Given the description of an element on the screen output the (x, y) to click on. 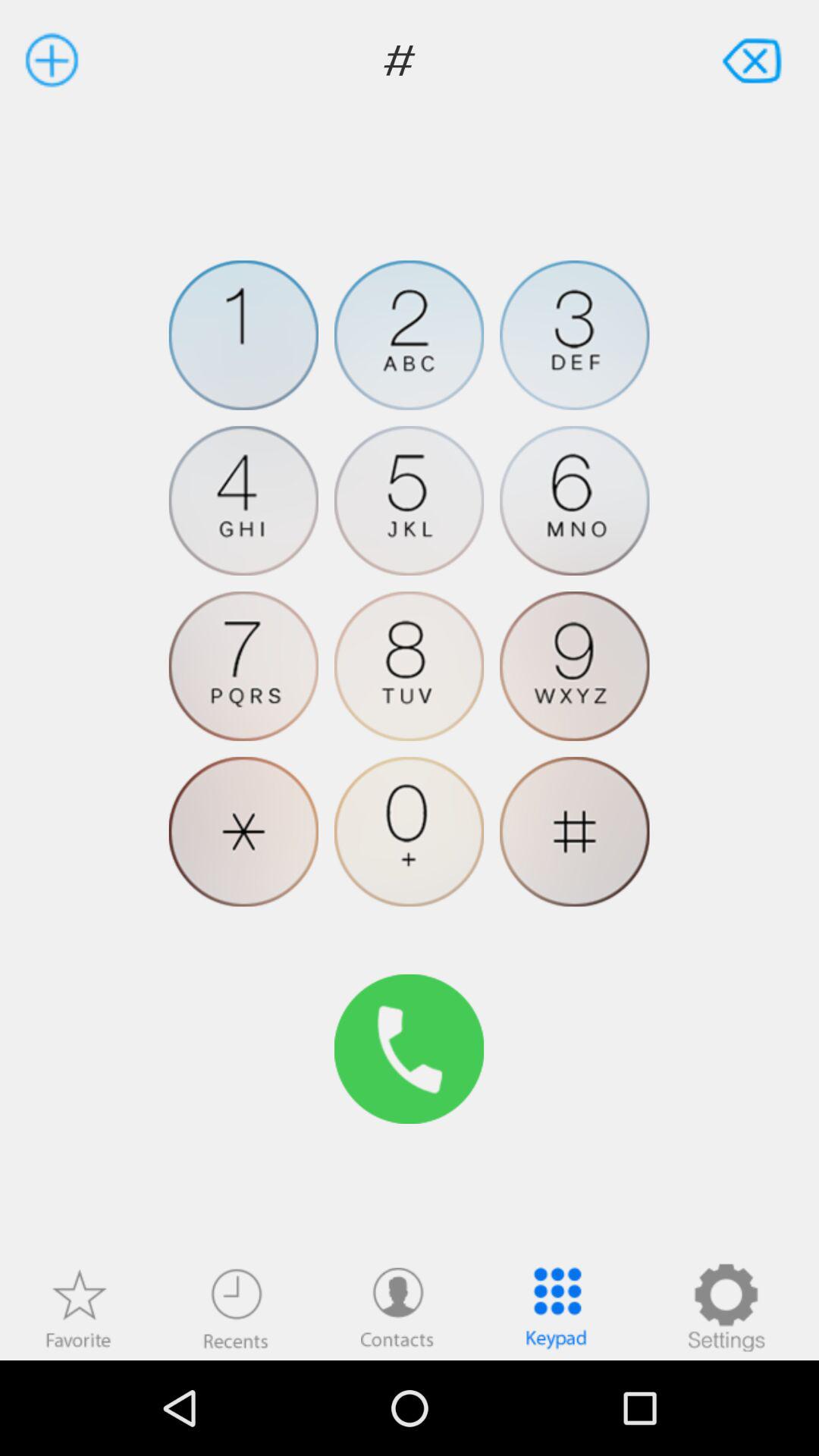
number nine (574, 666)
